Given the description of an element on the screen output the (x, y) to click on. 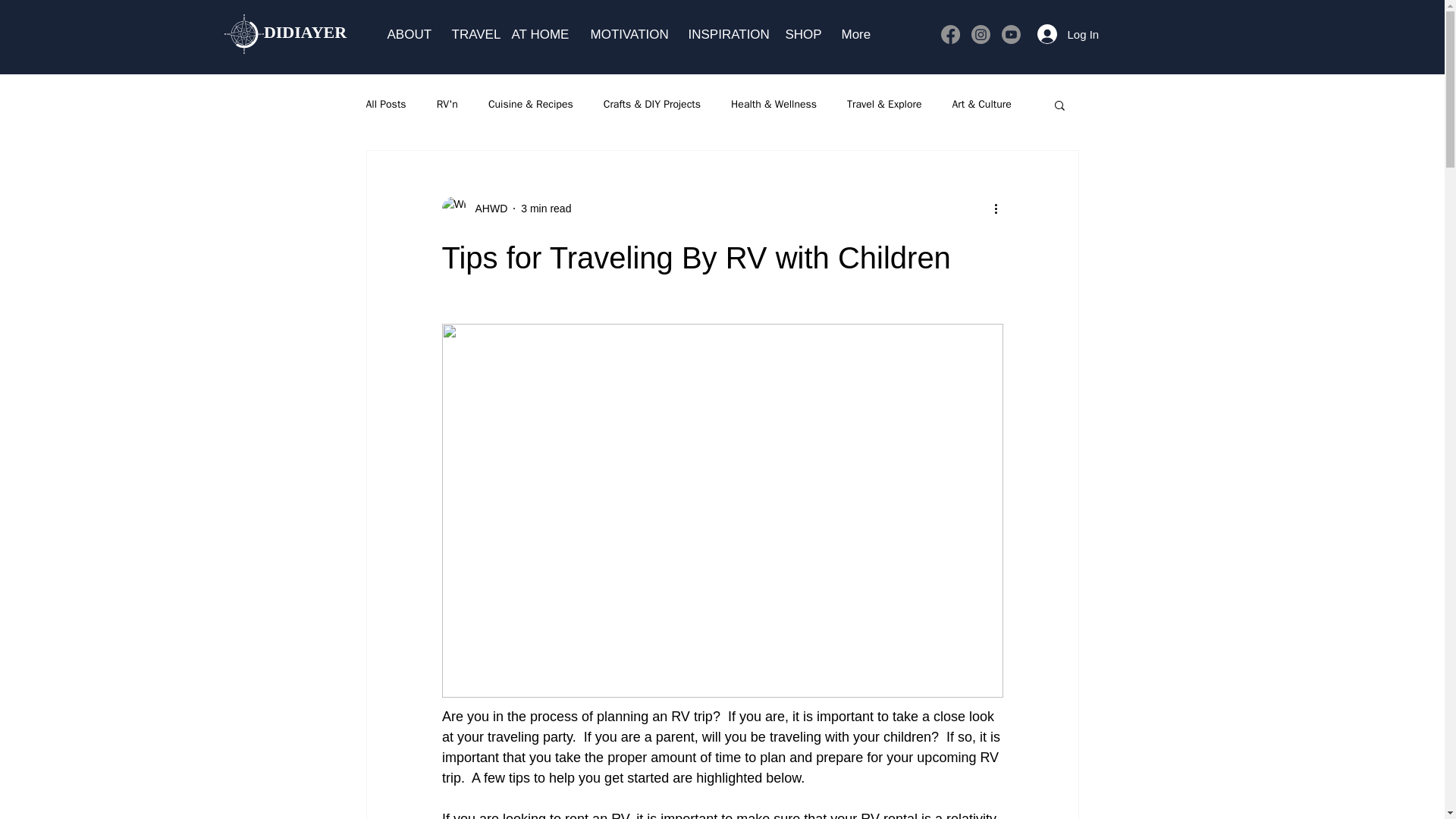
All Posts (385, 104)
3 min read (545, 207)
AHWD  (485, 207)
Log In (1057, 33)
RV'n (447, 104)
DIDIAYER (304, 32)
ABOUT (408, 34)
